Given the description of an element on the screen output the (x, y) to click on. 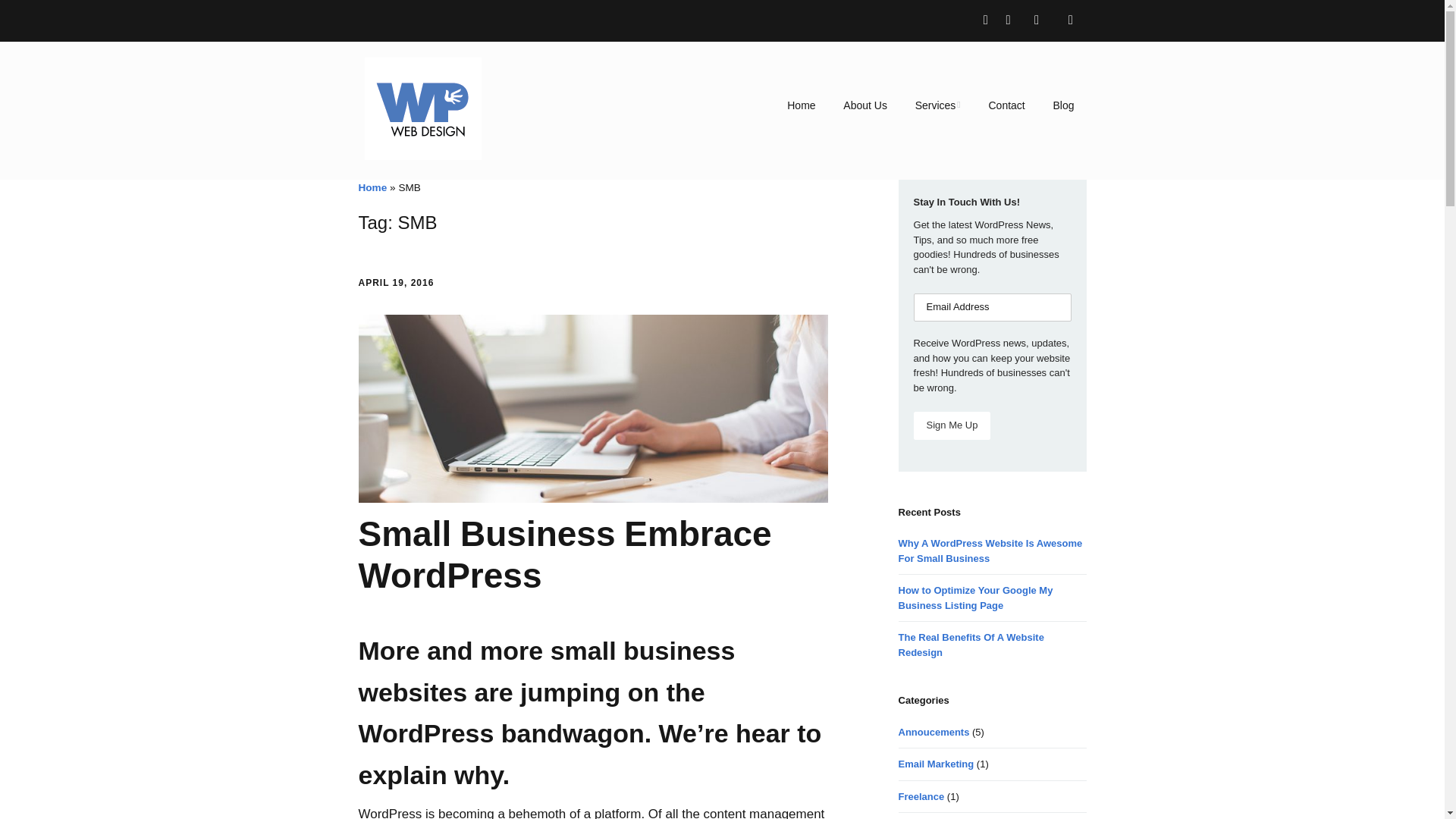
How to Optimize Your Google My Business Listing Page (975, 597)
Home (800, 105)
Home (372, 187)
Small Business Embrace WordPress (564, 554)
About Us (865, 105)
Services (937, 105)
APRIL 19, 2016 (395, 282)
About WP By Hand (865, 105)
Sign Me Up (952, 425)
Why A WordPress Website Is Awesome For Small Business (990, 550)
